Given the description of an element on the screen output the (x, y) to click on. 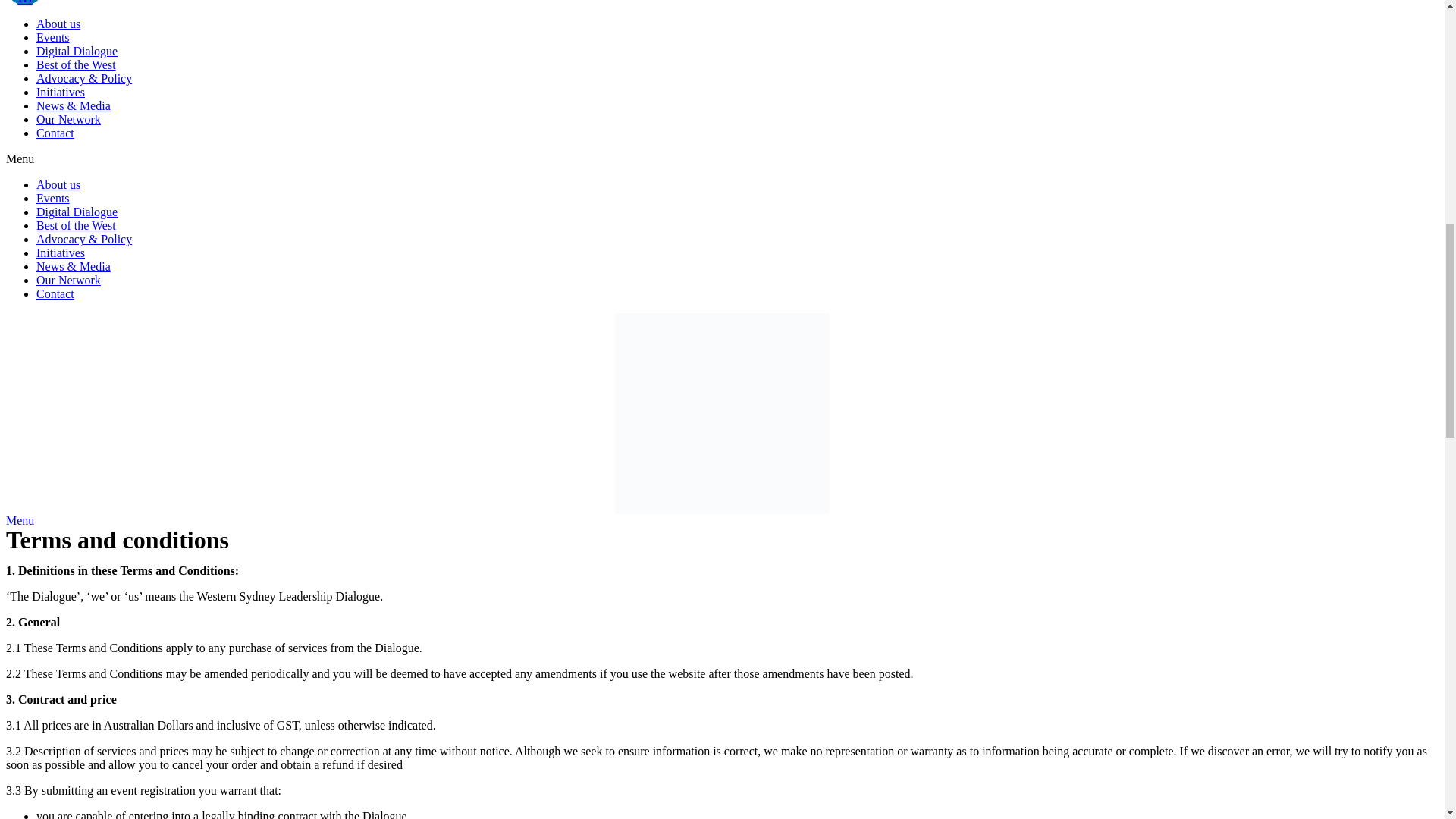
Digital Dialogue (76, 51)
Linkedin-in (24, 2)
Initiatives (60, 91)
Best of the West (76, 64)
Contact (55, 132)
Events (52, 197)
Events (52, 37)
About us (58, 23)
About us (58, 184)
Digital Dialogue (76, 211)
Best of the West (76, 225)
Initiatives (60, 252)
Our Network (68, 119)
